Given the description of an element on the screen output the (x, y) to click on. 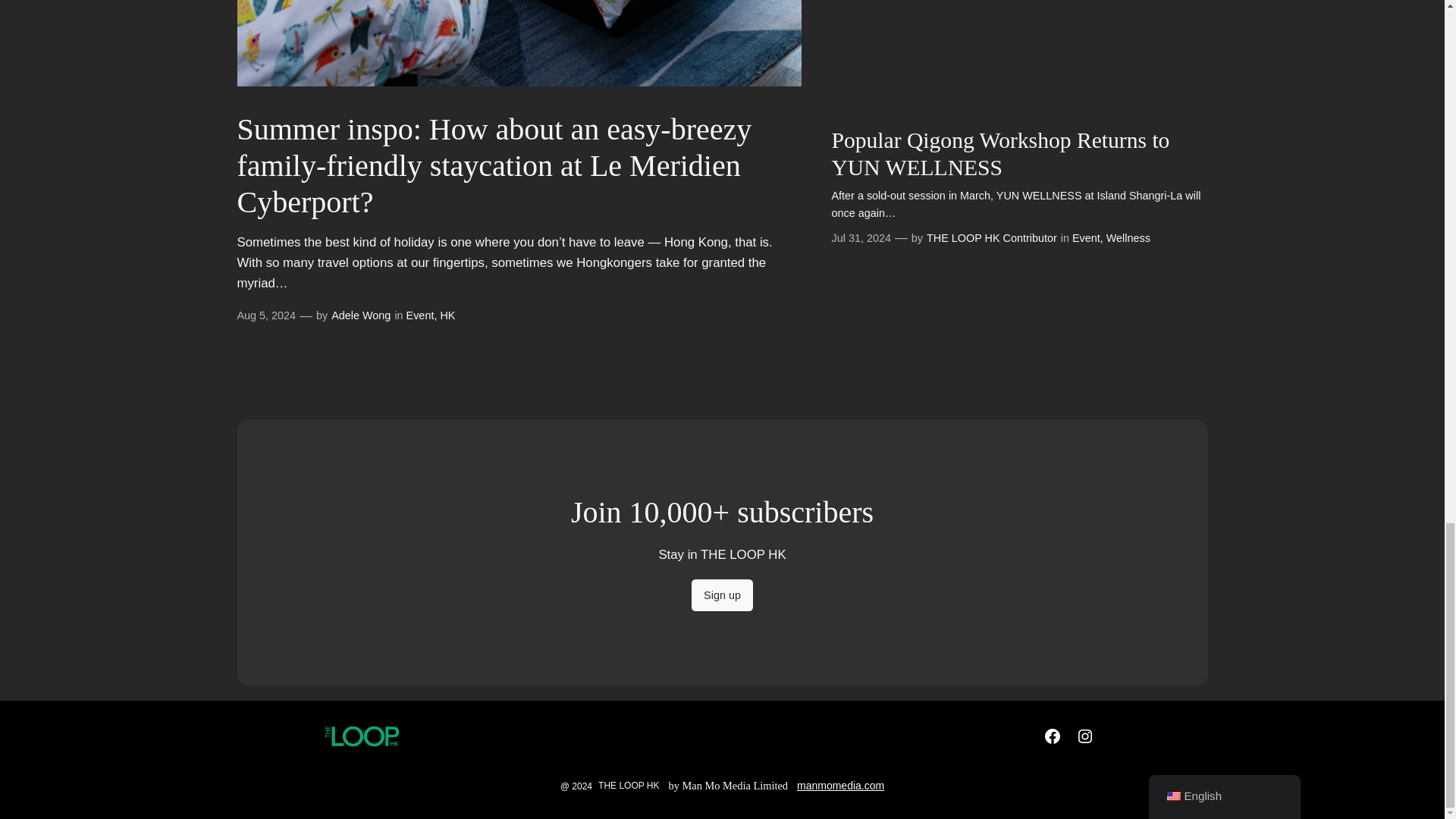
Event (419, 315)
Jul 31, 2024 (860, 237)
THE LOOP HK Contributor (991, 237)
Event (1085, 237)
Wellness (1128, 237)
Aug 5, 2024 (265, 315)
Facebook (1052, 736)
Sign up (721, 594)
HK (446, 315)
